Given the description of an element on the screen output the (x, y) to click on. 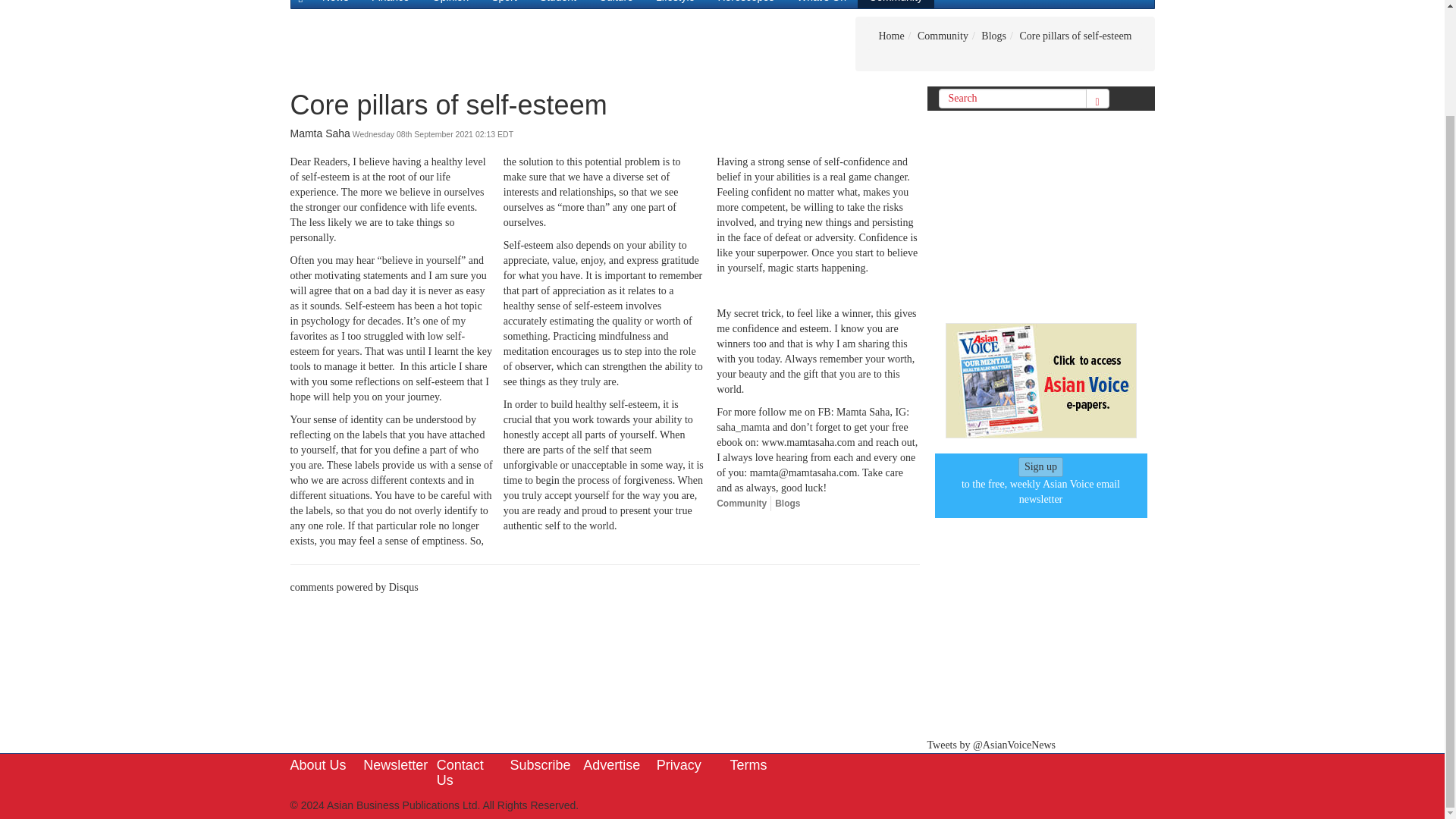
Opinion (450, 4)
Terms (748, 765)
Advertise (611, 765)
Culture (616, 4)
www.mamtasaha.com (808, 441)
Newsletter (395, 765)
Community (942, 35)
Subscribe (539, 765)
Sign up (1039, 466)
Finance (389, 4)
Sign up (1039, 466)
News (335, 4)
Home (890, 35)
What's On (821, 4)
About Us (317, 765)
